Given the description of an element on the screen output the (x, y) to click on. 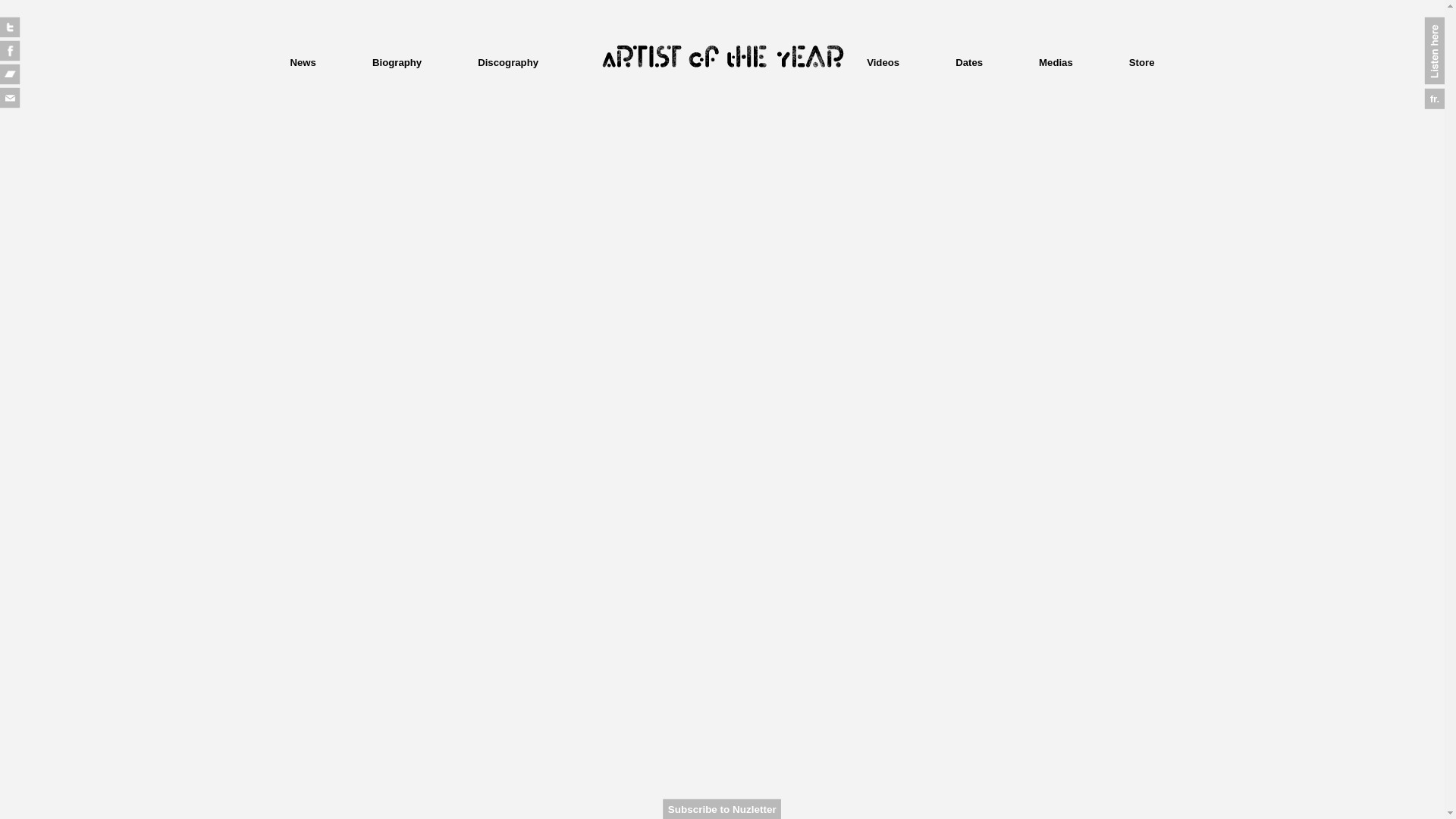
Facebook Element type: text (15, 55)
Twitter Element type: text (15, 32)
Home Element type: text (721, 56)
Store Element type: text (1141, 62)
Dates Element type: text (968, 62)
Videos Element type: text (882, 62)
Discography Element type: text (507, 62)
Bandcamp Element type: text (15, 79)
News Element type: text (302, 62)
Listen here! Element type: text (1439, 68)
fr. Element type: text (1439, 103)
Medias Element type: text (1055, 62)
Contact Element type: text (15, 102)
Biography Element type: text (396, 62)
